Given the description of an element on the screen output the (x, y) to click on. 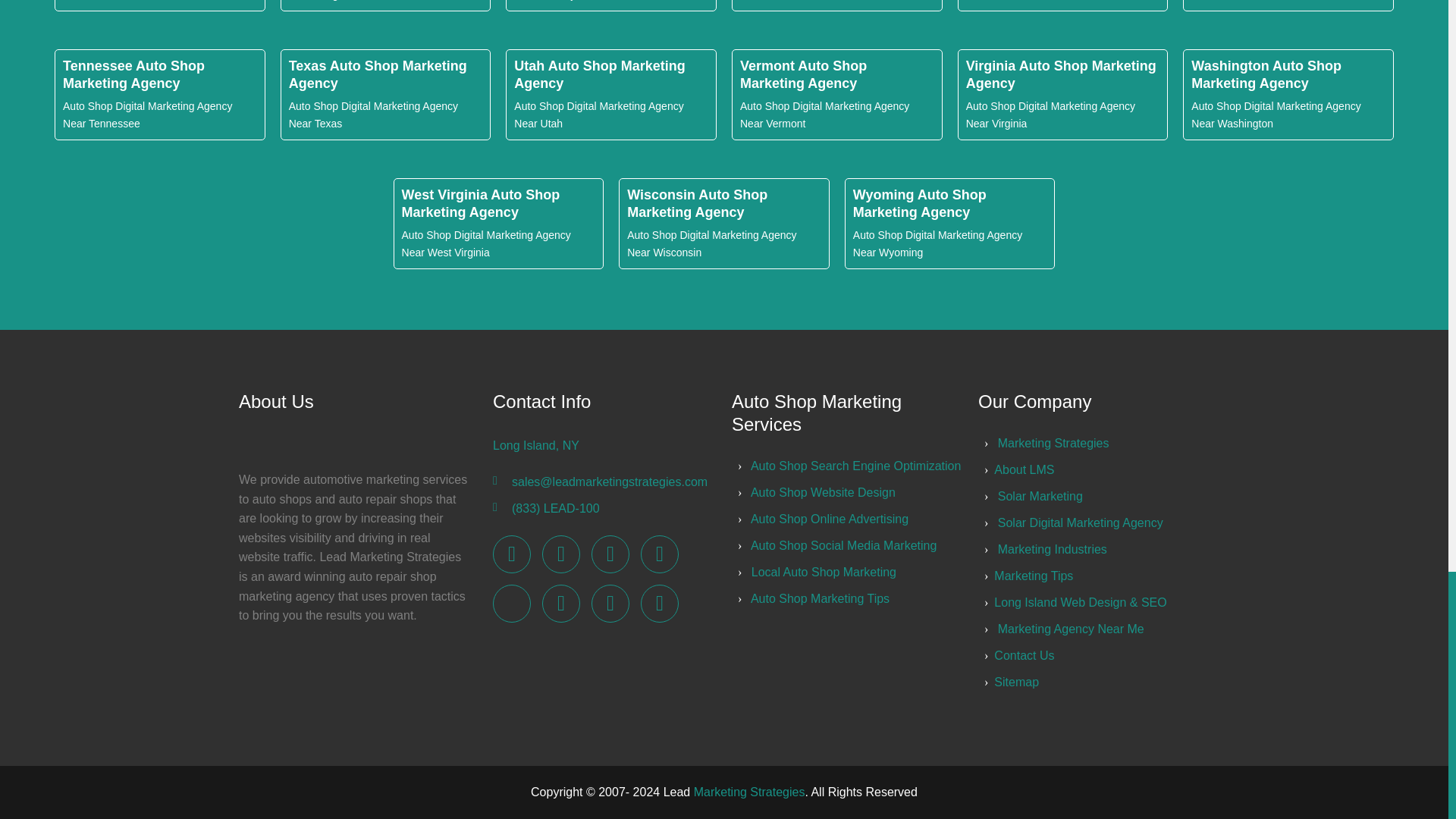
Solar Marketing (1040, 495)
Lead Marketing Strategies (560, 603)
Lead Marketing Strategies (659, 603)
Reputation Management (829, 518)
Lead Marketing Strategies (609, 603)
Solar Marketing Tips (820, 598)
Lead Marketing Strategies (512, 554)
Lead Marketing Strategies (560, 554)
Search Engine Optimization (855, 465)
Local Auto Shop Marketing (823, 571)
PPC Advertising (823, 492)
Lead Marketing Strategies (1053, 442)
About LMS (1024, 469)
Lead Marketing Strategies (609, 554)
Lead Marketing Strategies (659, 554)
